Given the description of an element on the screen output the (x, y) to click on. 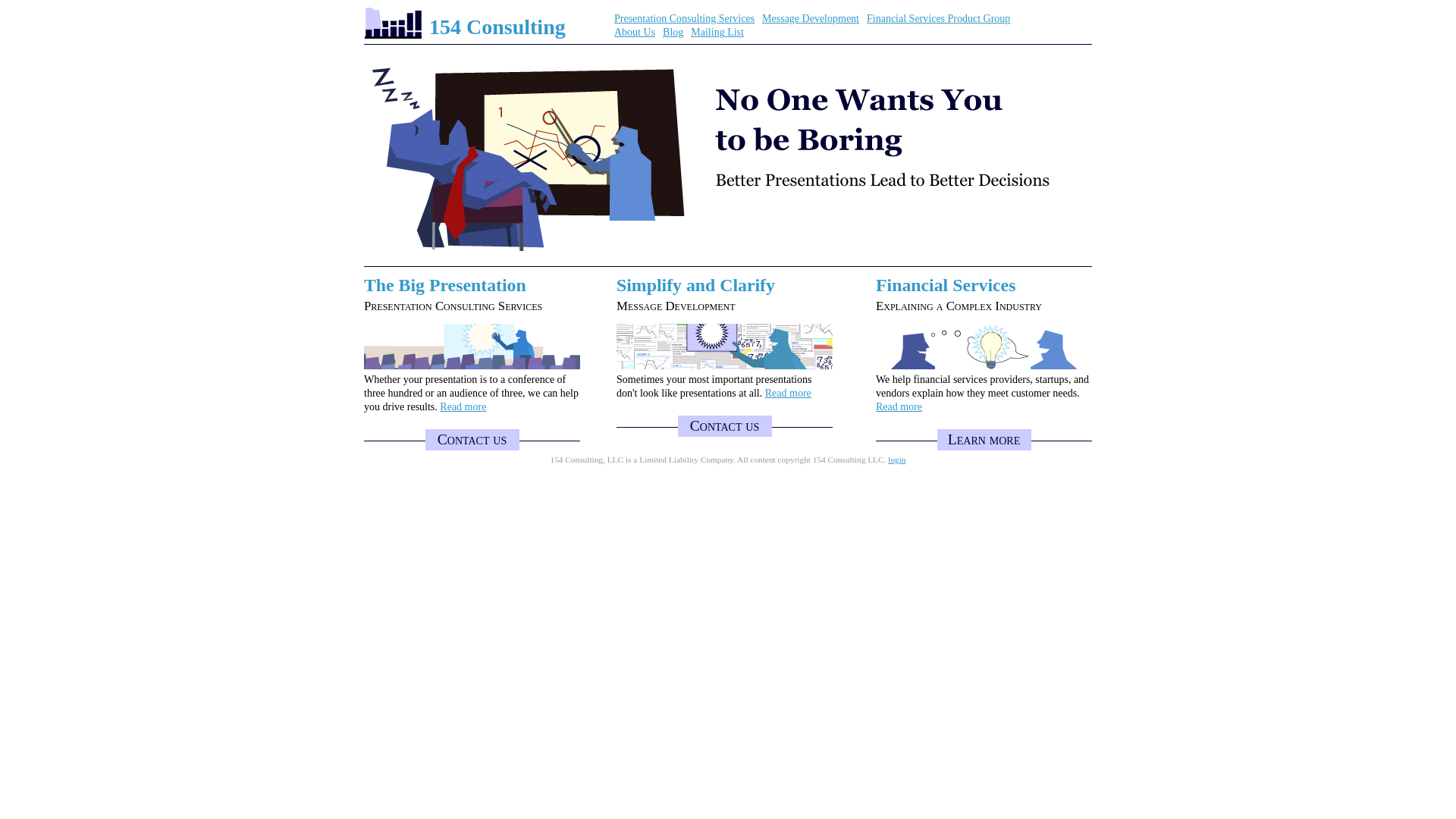
Presentation Consulting Services Element type: text (684, 18)
login Element type: text (896, 459)
Financial Services Product Group Element type: text (938, 18)
Home Element type: hover (392, 34)
154 Consulting Element type: text (497, 26)
Simplify and Clarify Element type: text (695, 284)
The Big Presentation Element type: text (445, 284)
Read more Element type: text (788, 392)
Read more Element type: text (898, 406)
Financial Services Element type: text (945, 284)
Message Development Element type: text (810, 18)
About Us Element type: text (634, 31)
Skip to Navigation Element type: text (1059, 12)
Read more Element type: text (462, 406)
Blog Element type: text (672, 31)
Mailing List Element type: text (716, 31)
Contact us Element type: text (724, 425)
Contact us Element type: text (471, 439)
Learn more Element type: text (984, 439)
